Given the description of an element on the screen output the (x, y) to click on. 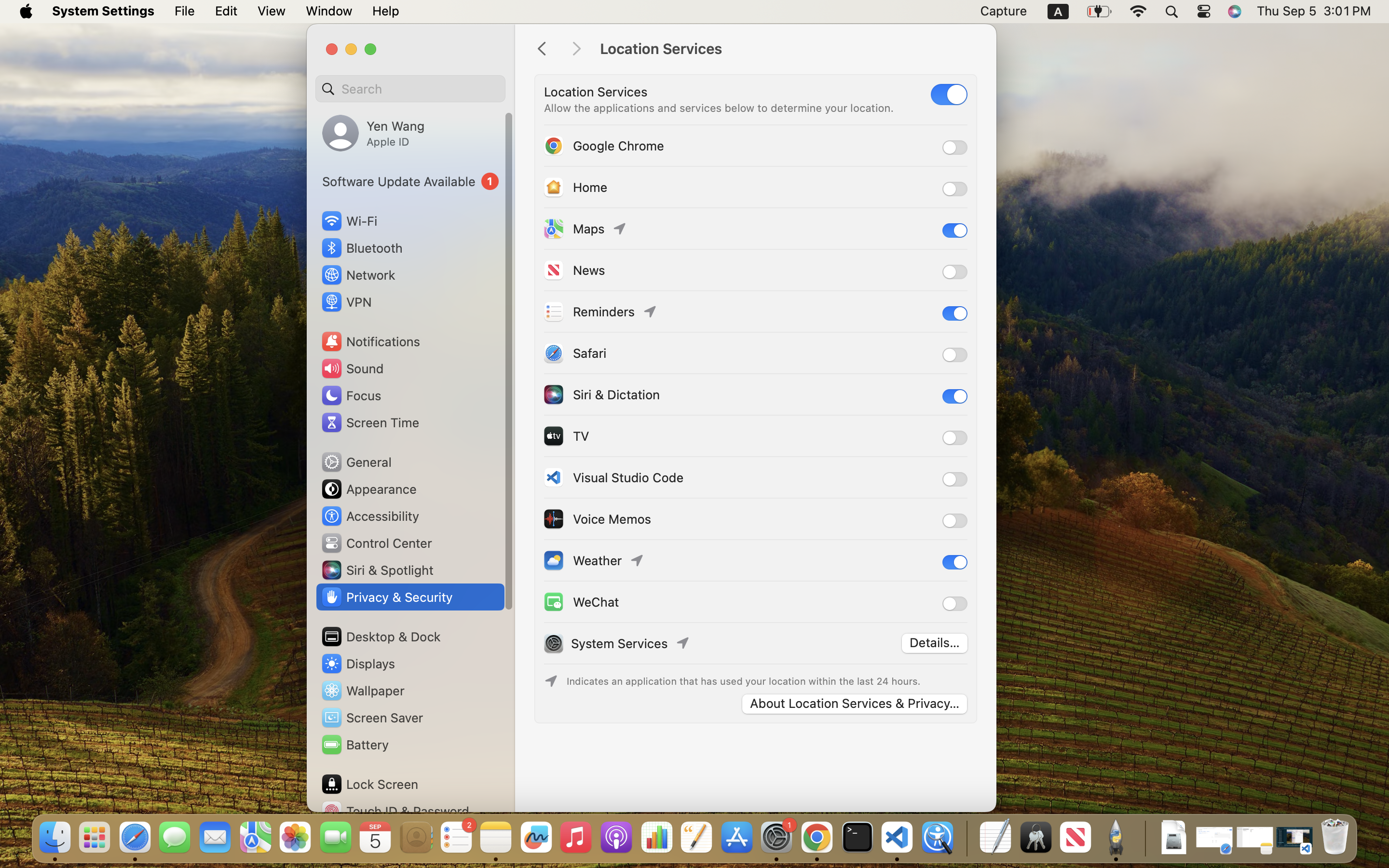
Location Services Element type: AXStaticText (788, 49)
Maps Element type: AXStaticText (573, 228)
Control Center Element type: AXStaticText (376, 542)
Bluetooth Element type: AXStaticText (361, 247)
Wallpaper Element type: AXStaticText (362, 690)
